Given the description of an element on the screen output the (x, y) to click on. 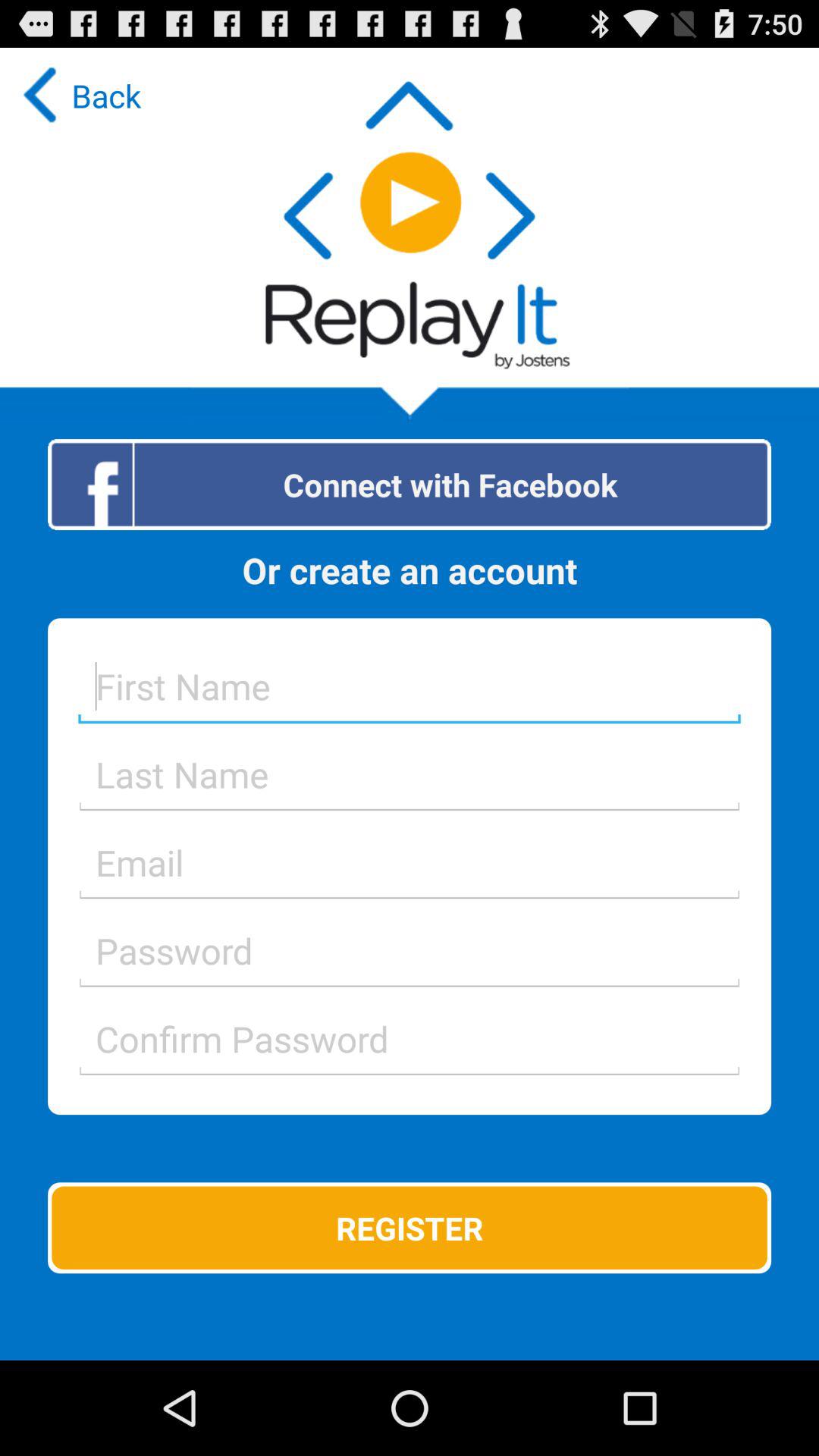
scroll until the back item (78, 95)
